Given the description of an element on the screen output the (x, y) to click on. 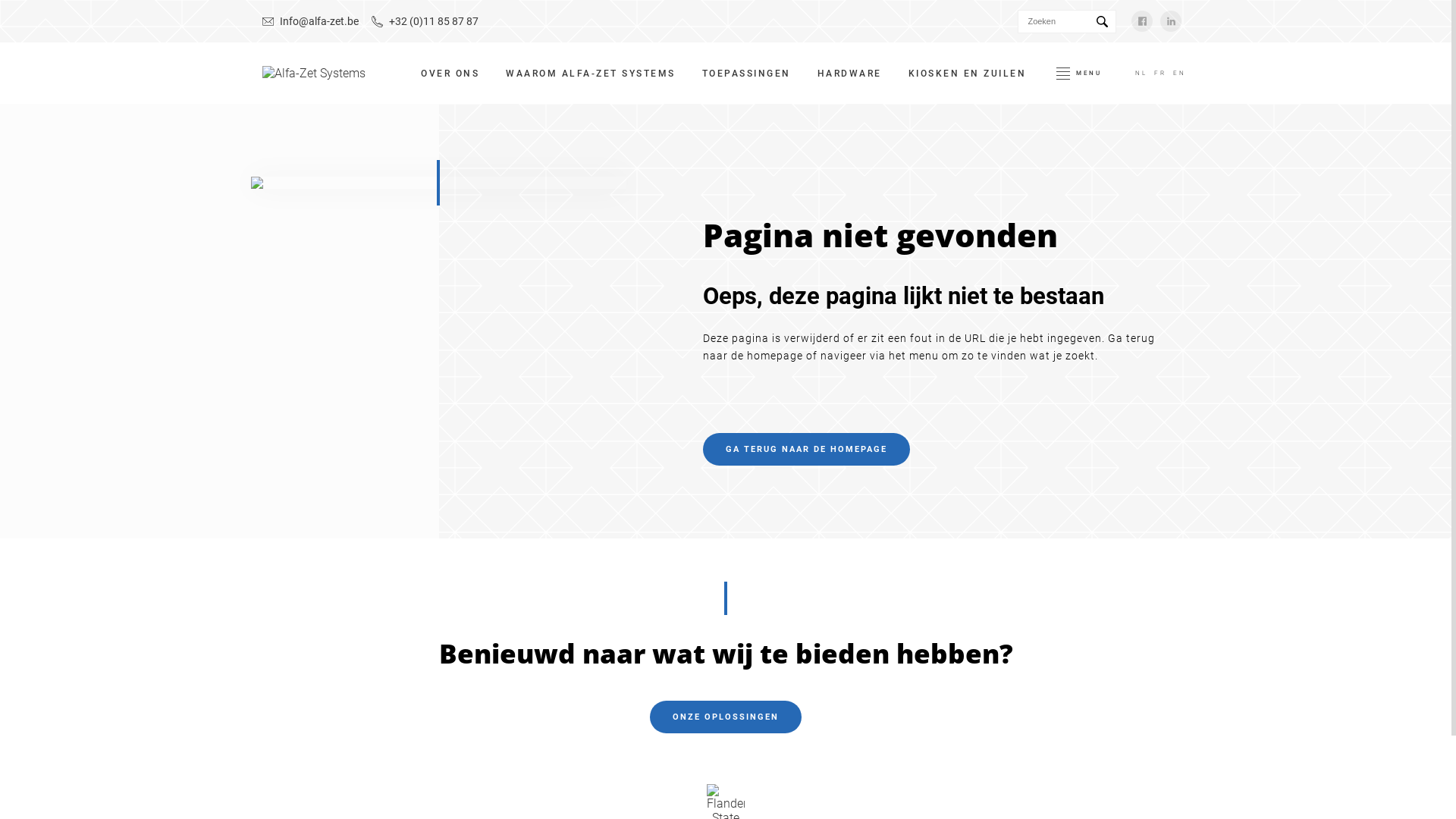
Alfa-Zet Systems Facebook Element type: hover (1141, 20)
HARDWARE Element type: text (849, 73)
Alfa-Zet Systems Element type: hover (313, 72)
EN Element type: text (1179, 72)
Alfa-Zet Systems Linkedin Element type: hover (1170, 20)
+32 (0)11 85 87 87 Element type: text (424, 21)
OVER ONS Element type: text (449, 73)
ONZE OPLOSSINGEN Element type: text (725, 716)
KIOSKEN EN ZUILEN Element type: text (967, 73)
WAAROM ALFA-ZET SYSTEMS Element type: text (590, 73)
TOEPASSINGEN Element type: text (746, 73)
NL Element type: text (1140, 72)
FR Element type: text (1159, 72)
MENU Element type: text (1078, 72)
GA TERUG NAAR DE HOMEPAGE Element type: text (806, 449)
Info@alfa-zet.be Element type: text (310, 21)
